Given the description of an element on the screen output the (x, y) to click on. 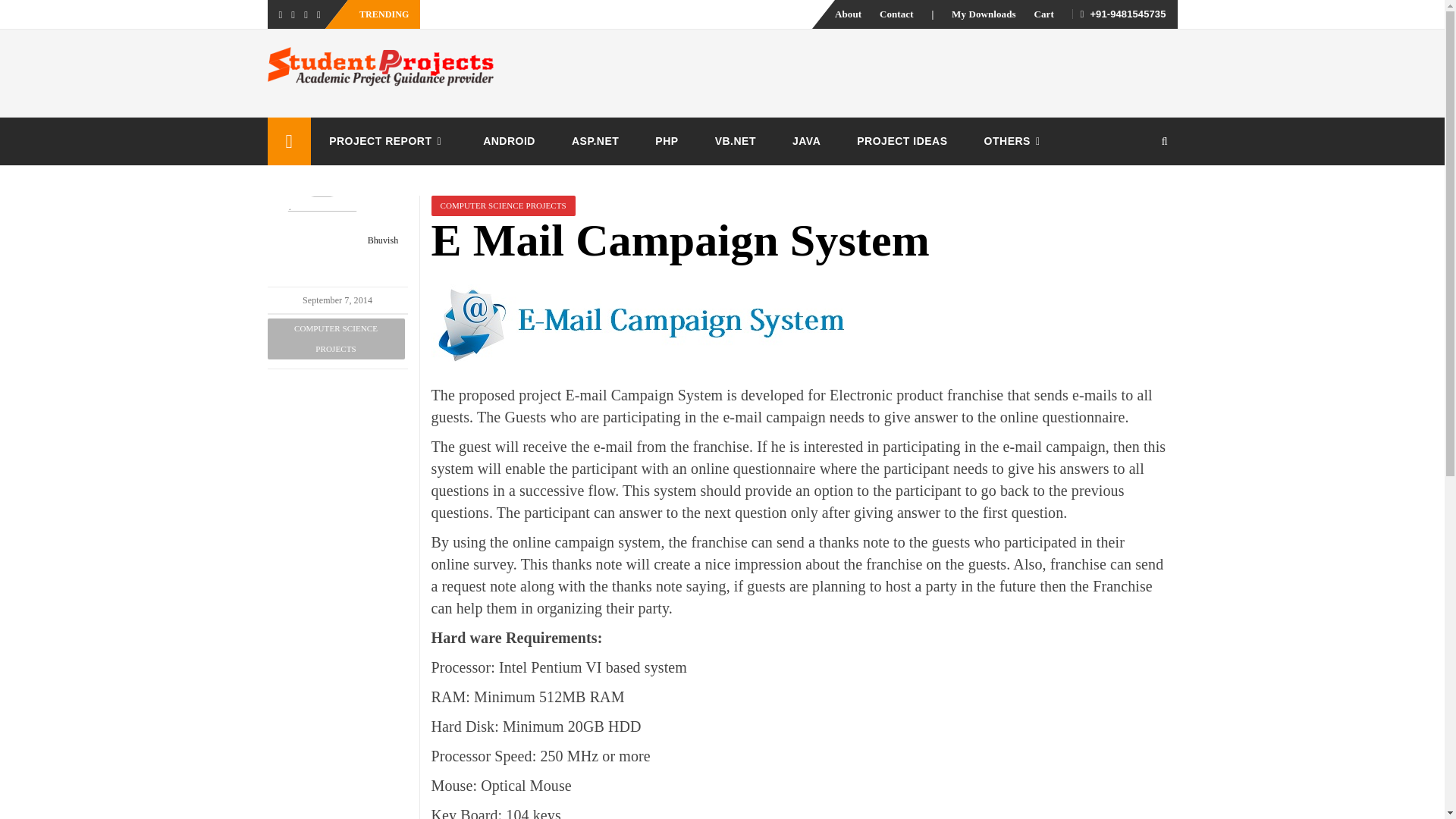
VB.NET (735, 140)
ANDROID (508, 140)
ASP.NET (595, 140)
PROJECT IDEAS (901, 140)
PHP (666, 140)
JAVA (806, 140)
Cart (1042, 13)
OTHERS (1015, 141)
About (847, 13)
Contact (896, 13)
PROJECT REPORT (387, 141)
My Downloads (984, 13)
